Given the description of an element on the screen output the (x, y) to click on. 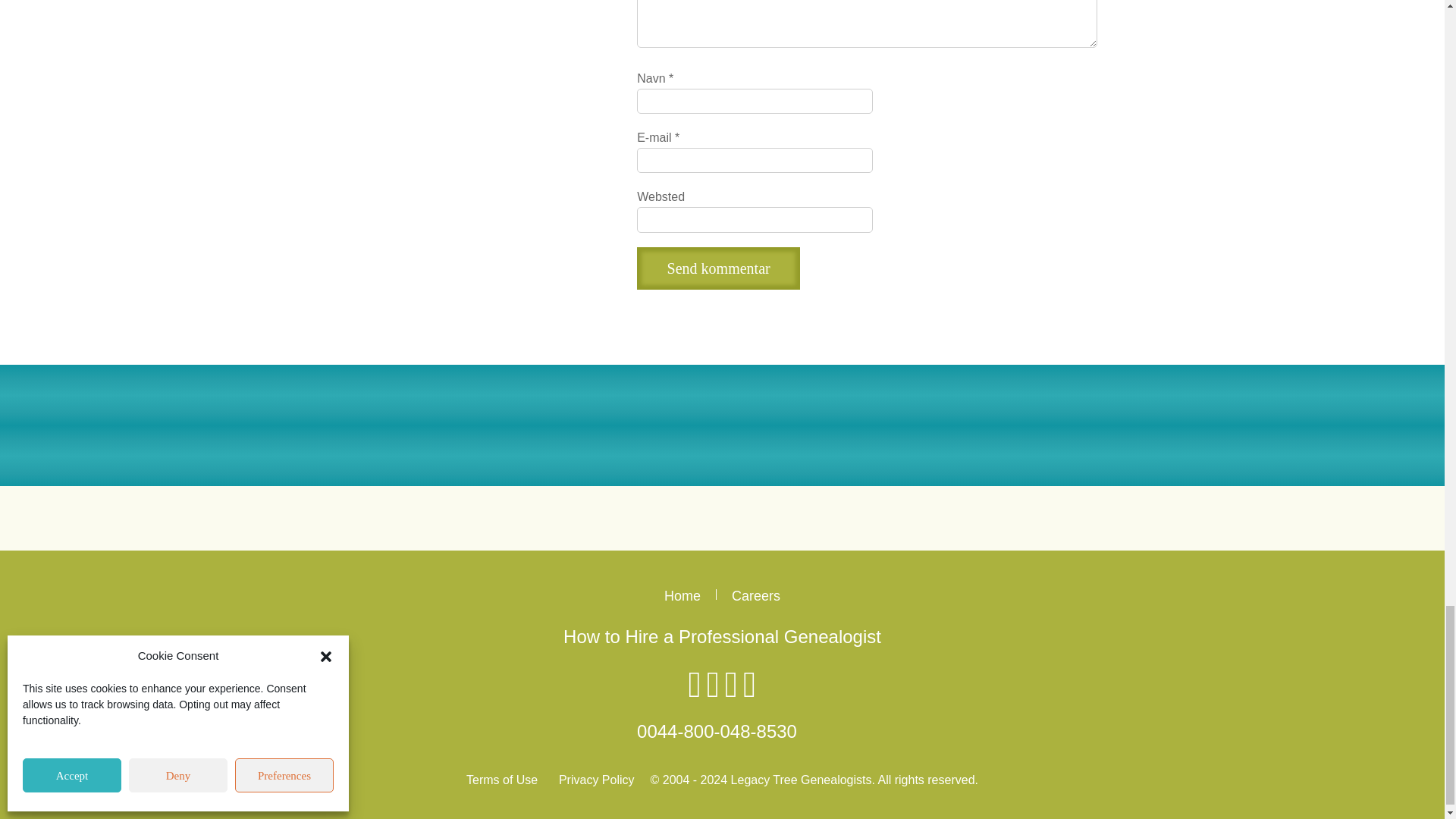
Send kommentar (718, 268)
